Given the description of an element on the screen output the (x, y) to click on. 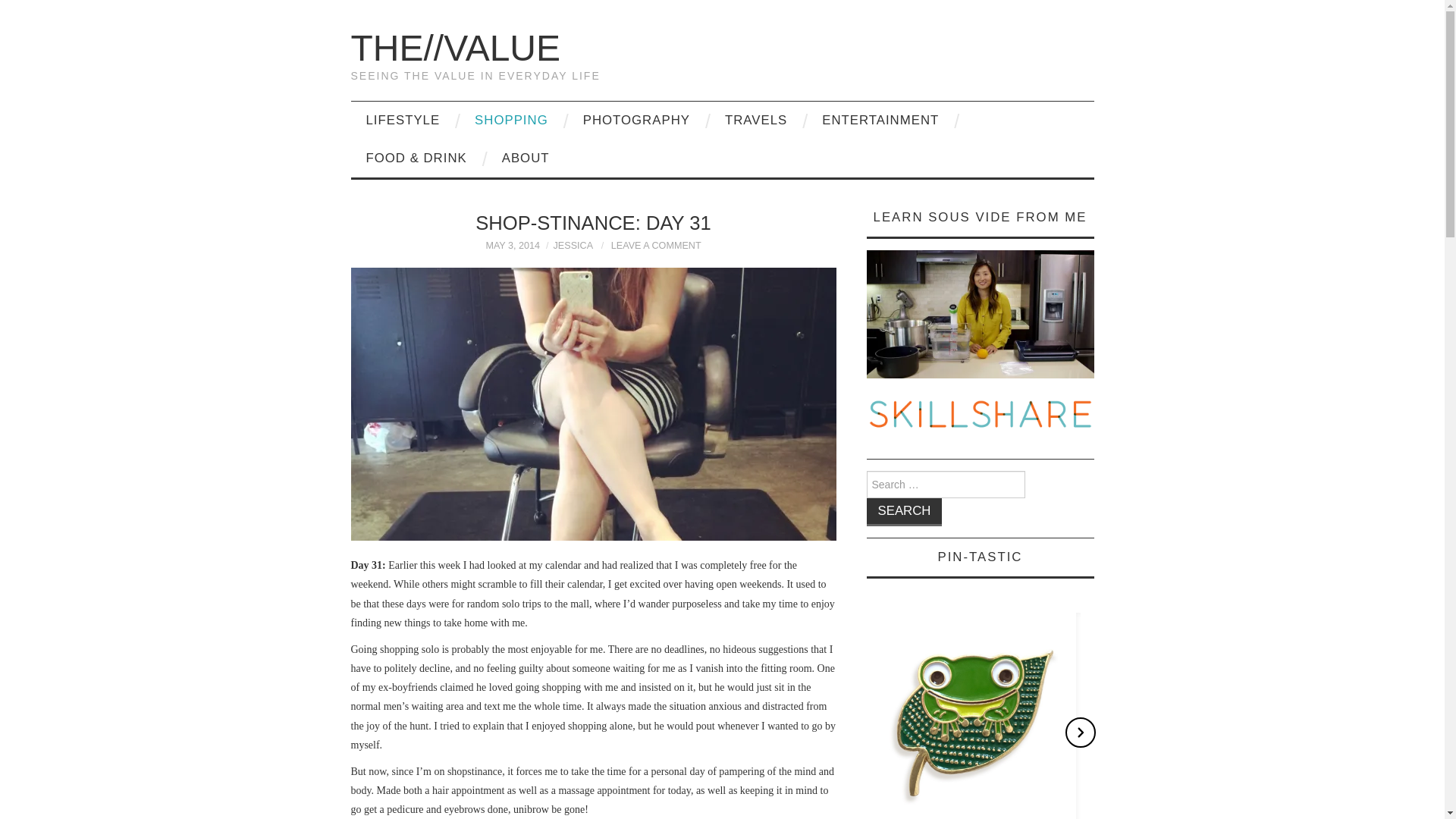
ABOUT (525, 158)
ENTERTAINMENT (879, 120)
PHOTOGRAPHY (635, 120)
LEAVE A COMMENT (656, 245)
Search for: (945, 483)
MAY 3, 2014 (512, 245)
SHOPPING (511, 120)
Search (904, 511)
JESSICA (572, 245)
Search (904, 511)
LIFESTYLE (402, 120)
TRAVELS (756, 120)
